Given the description of an element on the screen output the (x, y) to click on. 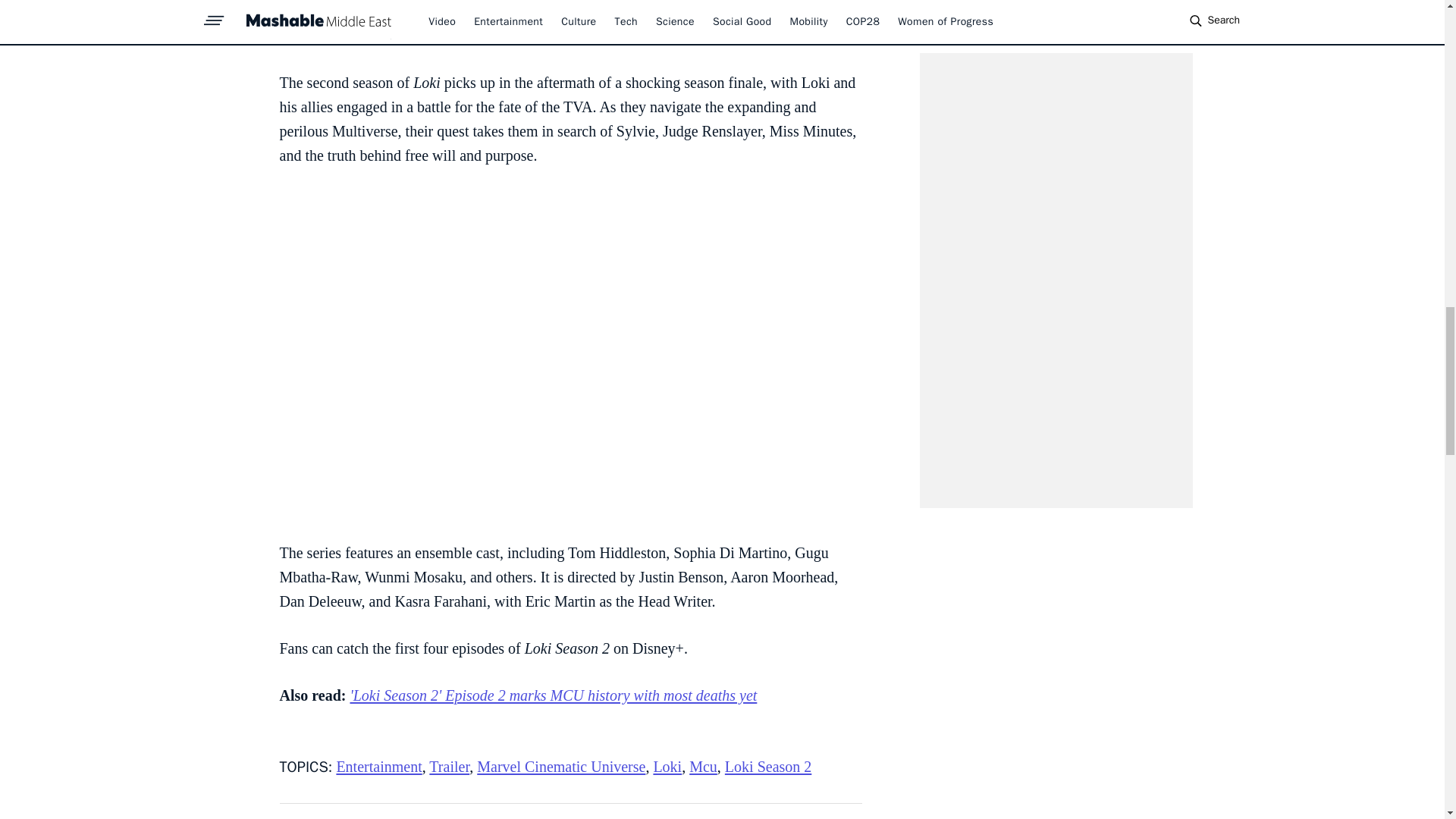
Entertainment (379, 766)
Mcu (702, 766)
Marvel Cinematic Universe (561, 766)
Loki (666, 766)
Loki Season 2 (767, 766)
Trailer (448, 766)
